Given the description of an element on the screen output the (x, y) to click on. 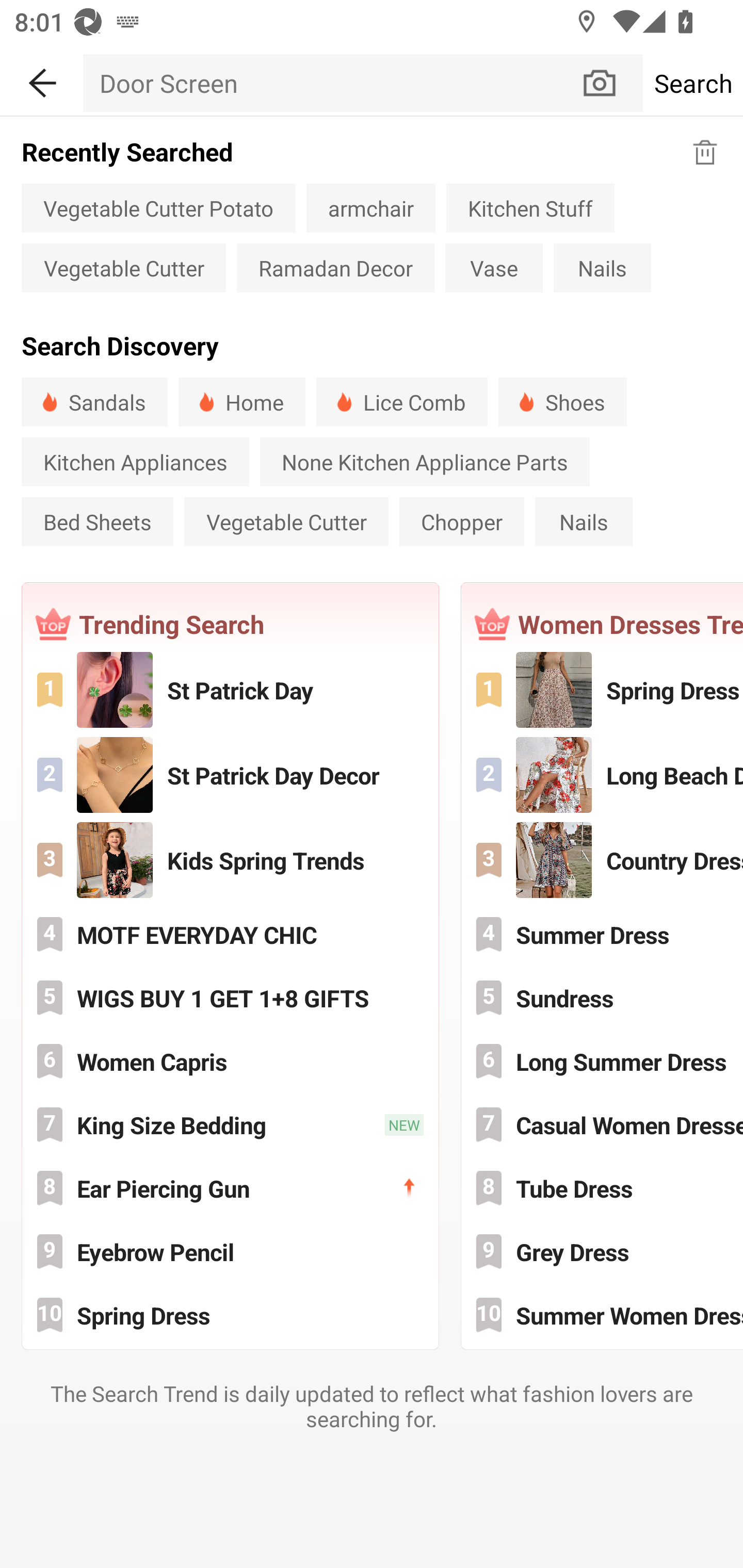
BACK (41, 79)
Door Screen (331, 82)
Search (692, 82)
Vegetable Cutter Potato (158, 207)
armchair (370, 207)
Kitchen Stuff (530, 207)
Vegetable Cutter (123, 268)
Ramadan Decor (335, 268)
Vase (494, 268)
Nails (601, 268)
Sandals (94, 401)
Home (241, 401)
Lice Comb (401, 401)
Shoes (562, 401)
Kitchen Appliances (134, 461)
None Kitchen Appliance Parts (424, 461)
Bed Sheets (97, 521)
Vegetable Cutter (286, 521)
Chopper (461, 521)
Nails (583, 521)
St Patrick Day 1 St Patrick Day (230, 689)
Spring Dress 1 Spring Dress (602, 689)
St Patrick Day Decor 2 St Patrick Day Decor (230, 774)
Long Beach Dress 2 Long Beach Dress (602, 774)
Kids Spring Trends 3 Kids Spring Trends (230, 859)
Country Dress 3 Country Dress (602, 859)
MOTF EVERYDAY CHIC 4 MOTF EVERYDAY CHIC (230, 934)
Summer Dress 4 Summer Dress (602, 934)
Sundress 5 Sundress (602, 997)
Women Capris 6 Women Capris (230, 1061)
Long Summer Dress 6 Long Summer Dress (602, 1061)
King Size Bedding 7 King Size Bedding NEW (230, 1124)
Casual Women Dresses 7 Casual Women Dresses (602, 1124)
Ear Piercing Gun 8 Ear Piercing Gun (230, 1187)
Tube Dress 8 Tube Dress (602, 1187)
Eyebrow Pencil 9 Eyebrow Pencil (230, 1250)
Grey Dress 9 Grey Dress (602, 1250)
Spring Dress 10 Spring Dress (230, 1314)
Summer Women Dresses 10 Summer Women Dresses (602, 1314)
